Given the description of an element on the screen output the (x, y) to click on. 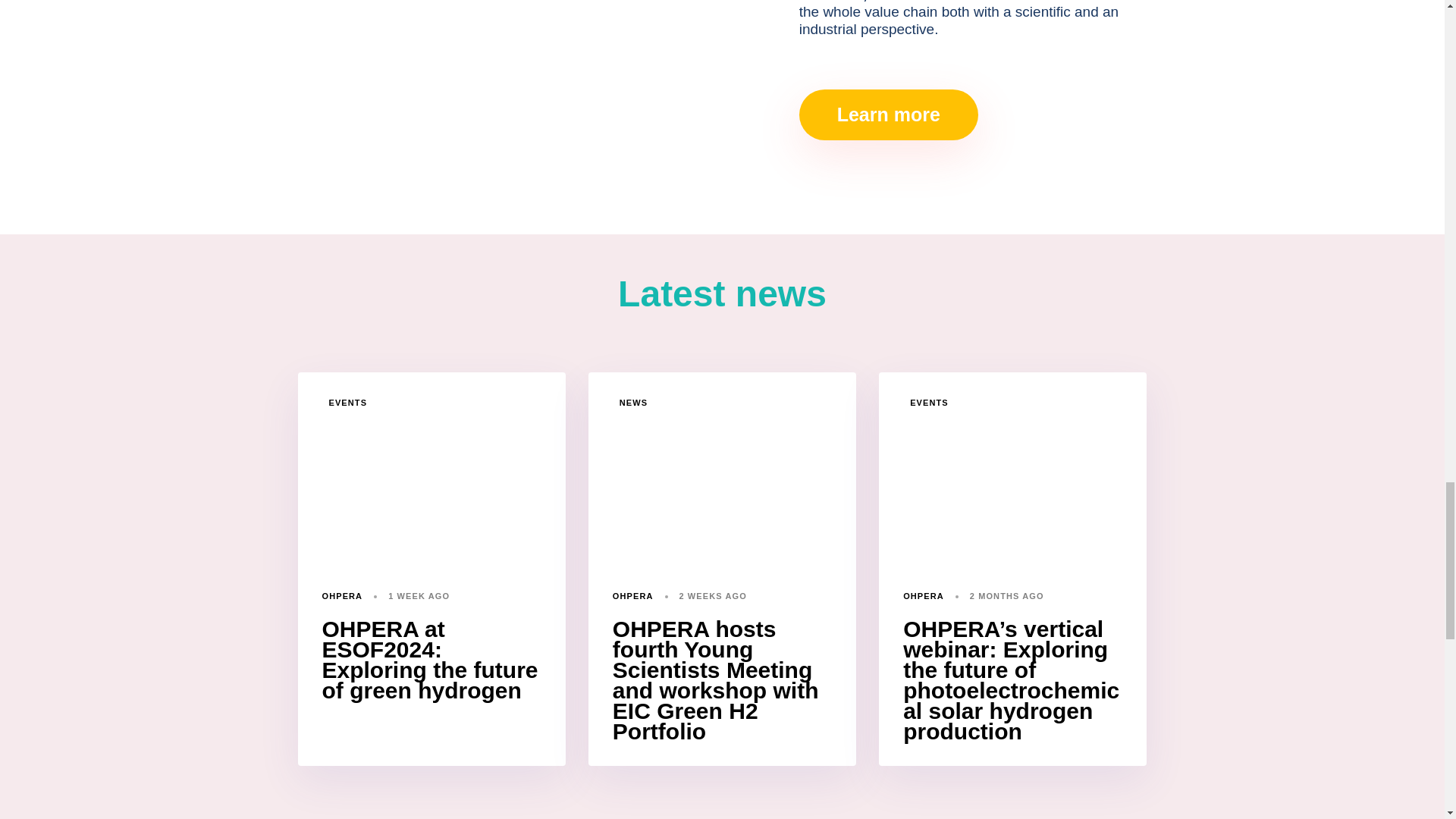
Learn more (888, 114)
OHPERA at ESOF2024: Exploring the future of green hydrogen (429, 659)
OHPERA (632, 595)
OHPERA (922, 595)
NEWS (633, 403)
EVENTS (348, 403)
EVENTS (929, 403)
OHPERA (341, 595)
